Given the description of an element on the screen output the (x, y) to click on. 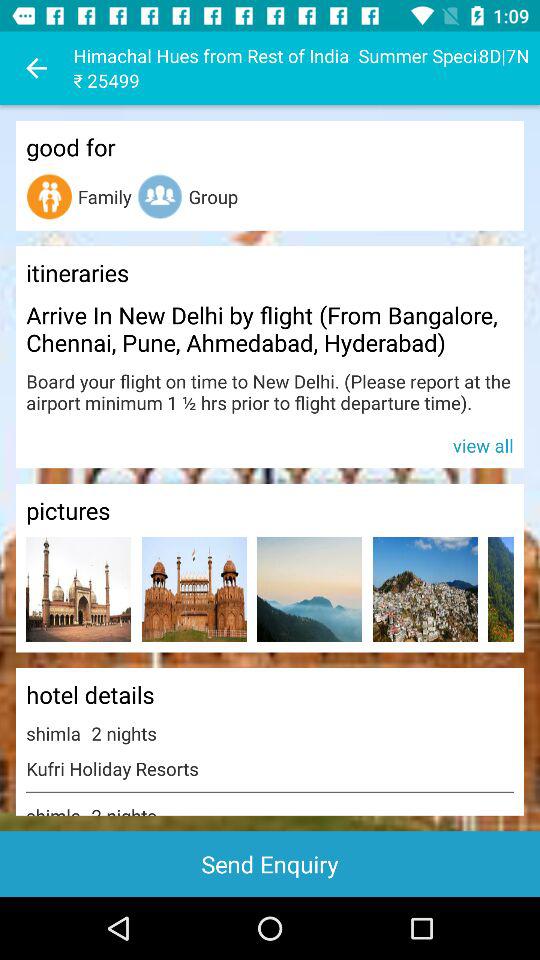
turn on the item below pictures item (193, 588)
